Given the description of an element on the screen output the (x, y) to click on. 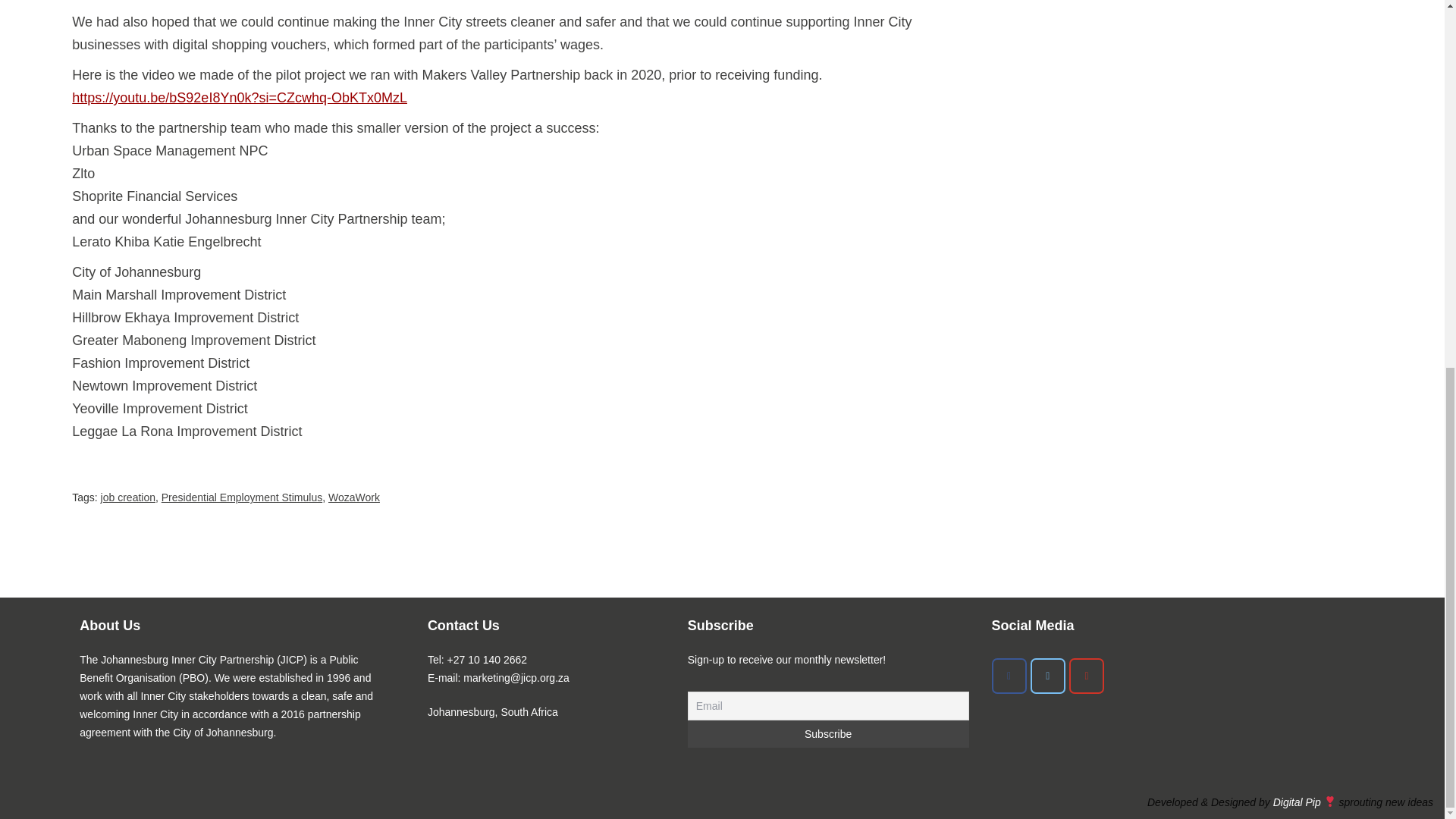
The Johannesburg Inner City Partnership on Facebook (1008, 675)
The Johannesburg Inner City Partnership on X Twitter (1047, 675)
Subscribe (828, 733)
The Johannesburg Inner City Partnership on Youtube (1085, 675)
